Given the description of an element on the screen output the (x, y) to click on. 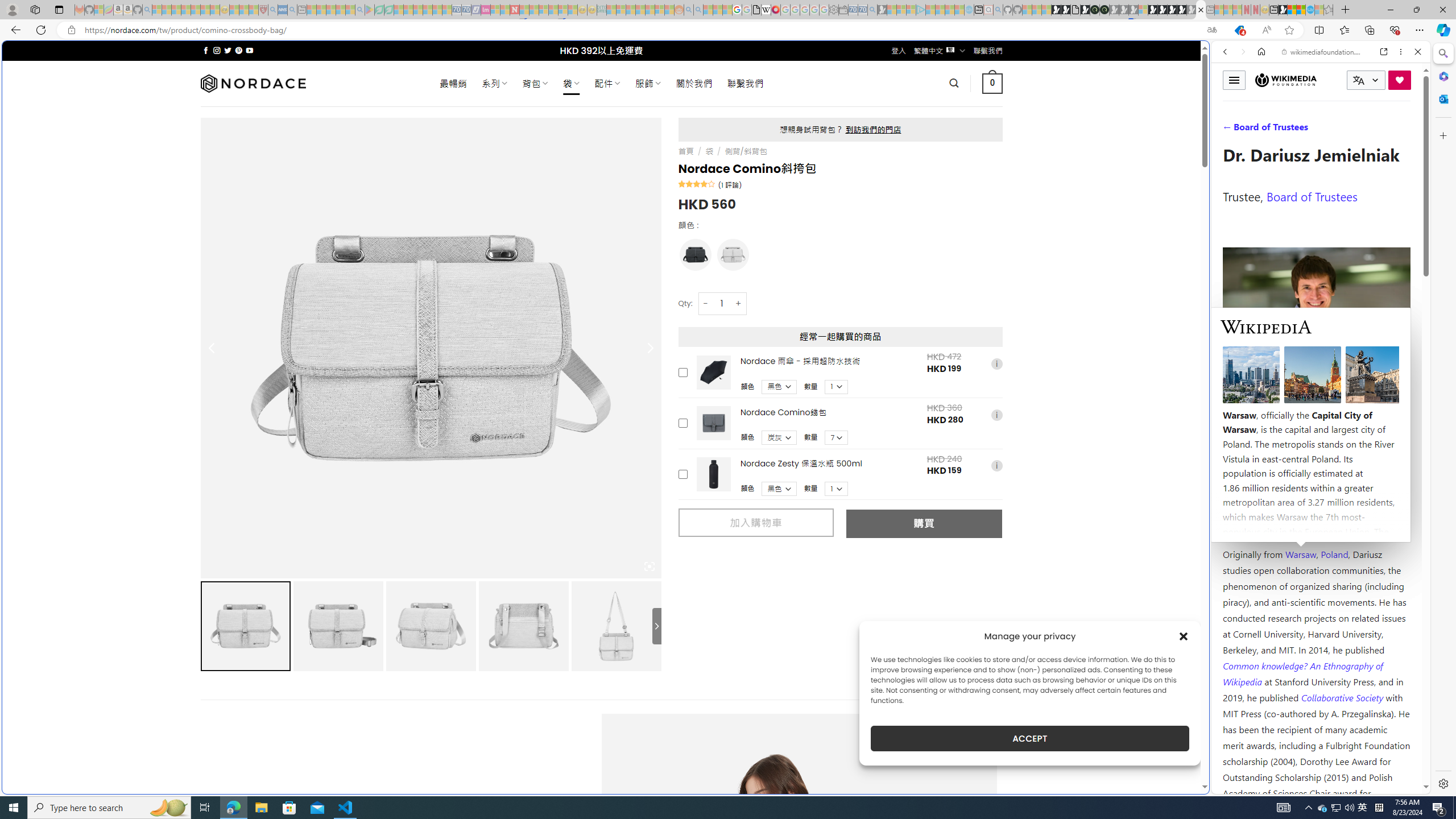
Add this product to cart (682, 474)
Warsaw (1300, 554)
Wikimedia Foundation (1286, 79)
